Given the description of an element on the screen output the (x, y) to click on. 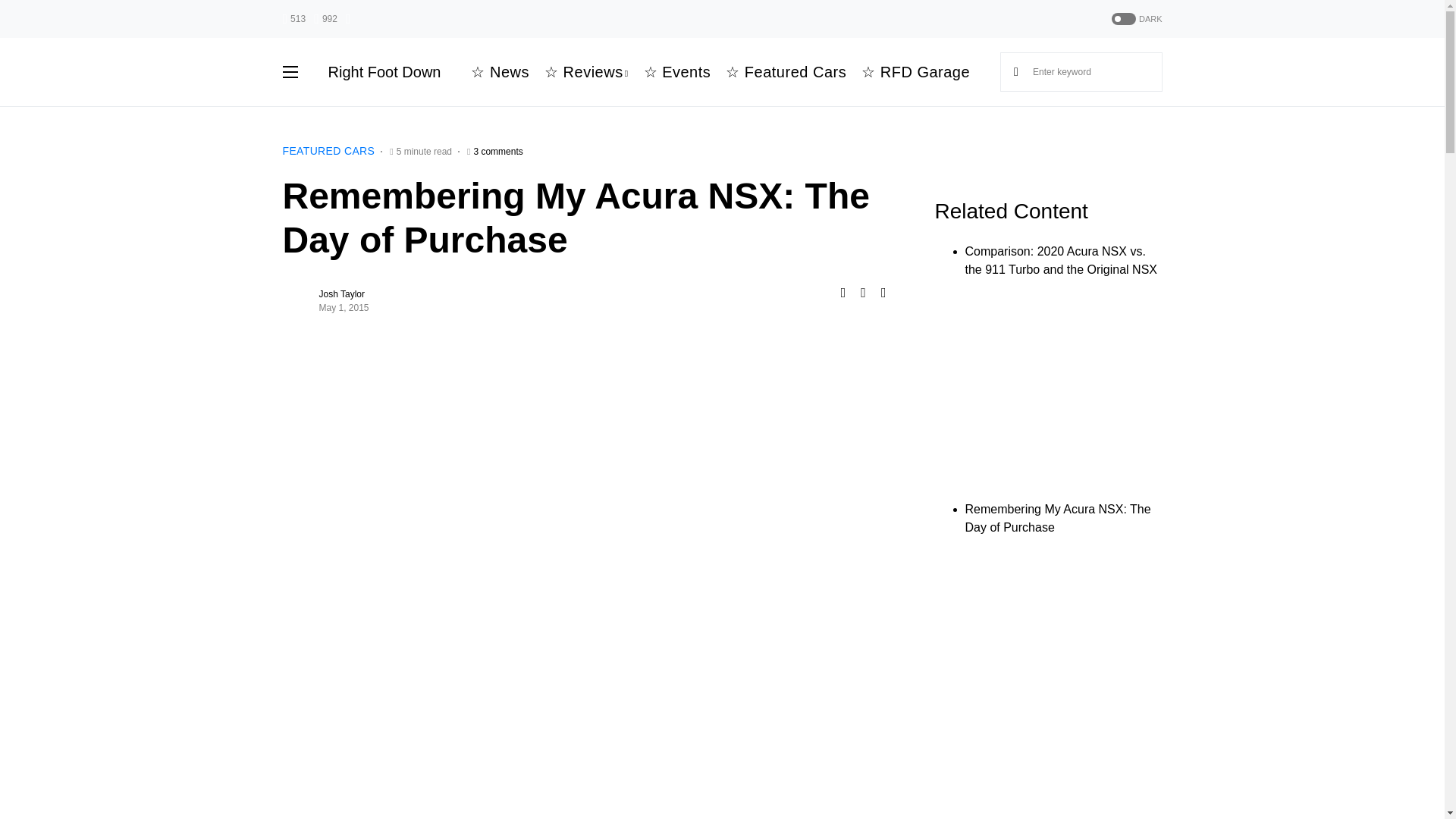
Right Foot Down (384, 71)
992 (325, 18)
513 (293, 18)
